Given the description of an element on the screen output the (x, y) to click on. 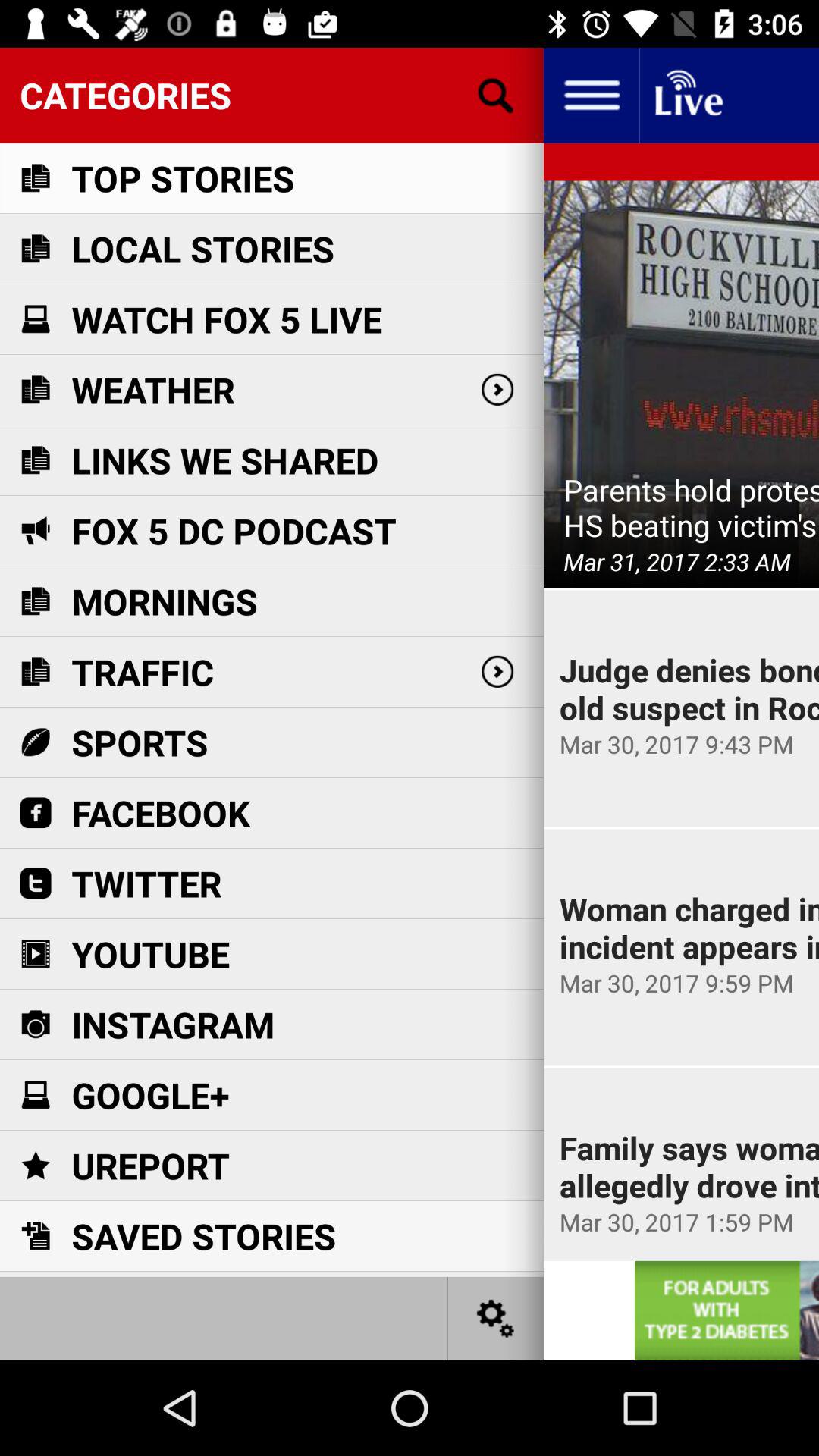
seaching the button (495, 95)
